Given the description of an element on the screen output the (x, y) to click on. 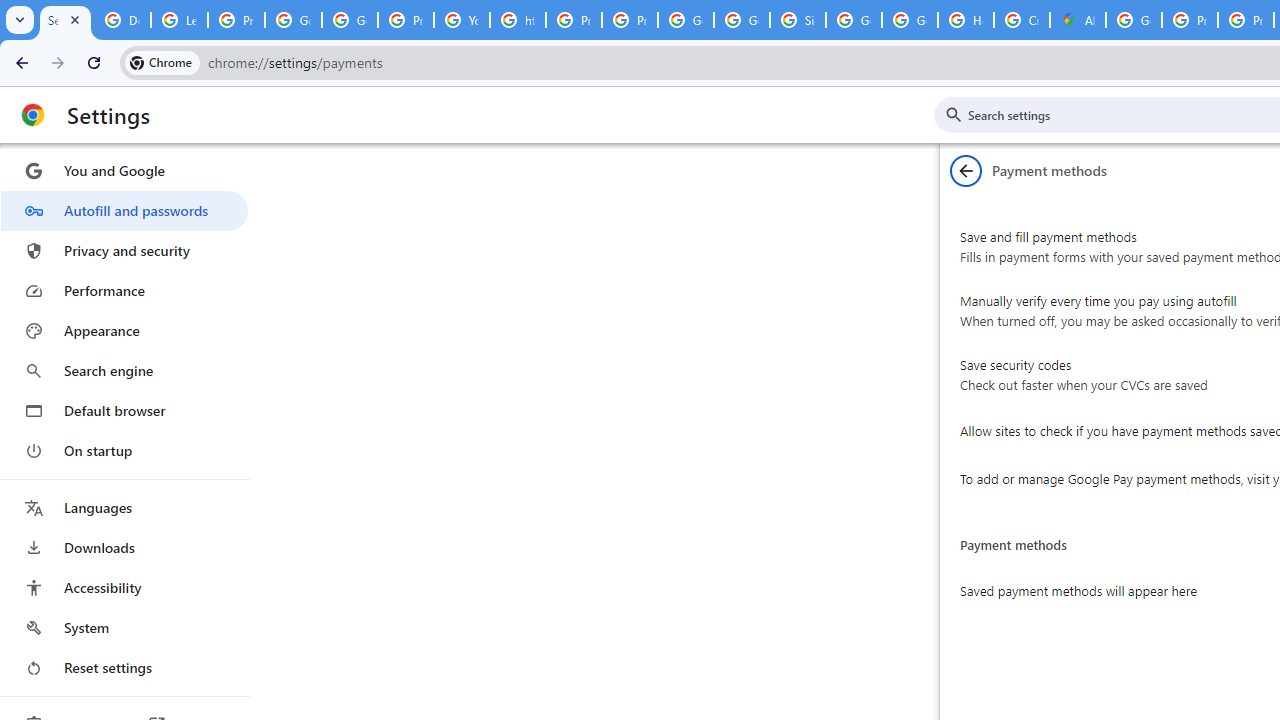
Languages (124, 507)
Autofill and passwords (124, 210)
Downloads (124, 547)
Sign in - Google Accounts (797, 20)
Default browser (124, 410)
Accessibility (124, 587)
YouTube (461, 20)
Reset settings (124, 668)
